Given the description of an element on the screen output the (x, y) to click on. 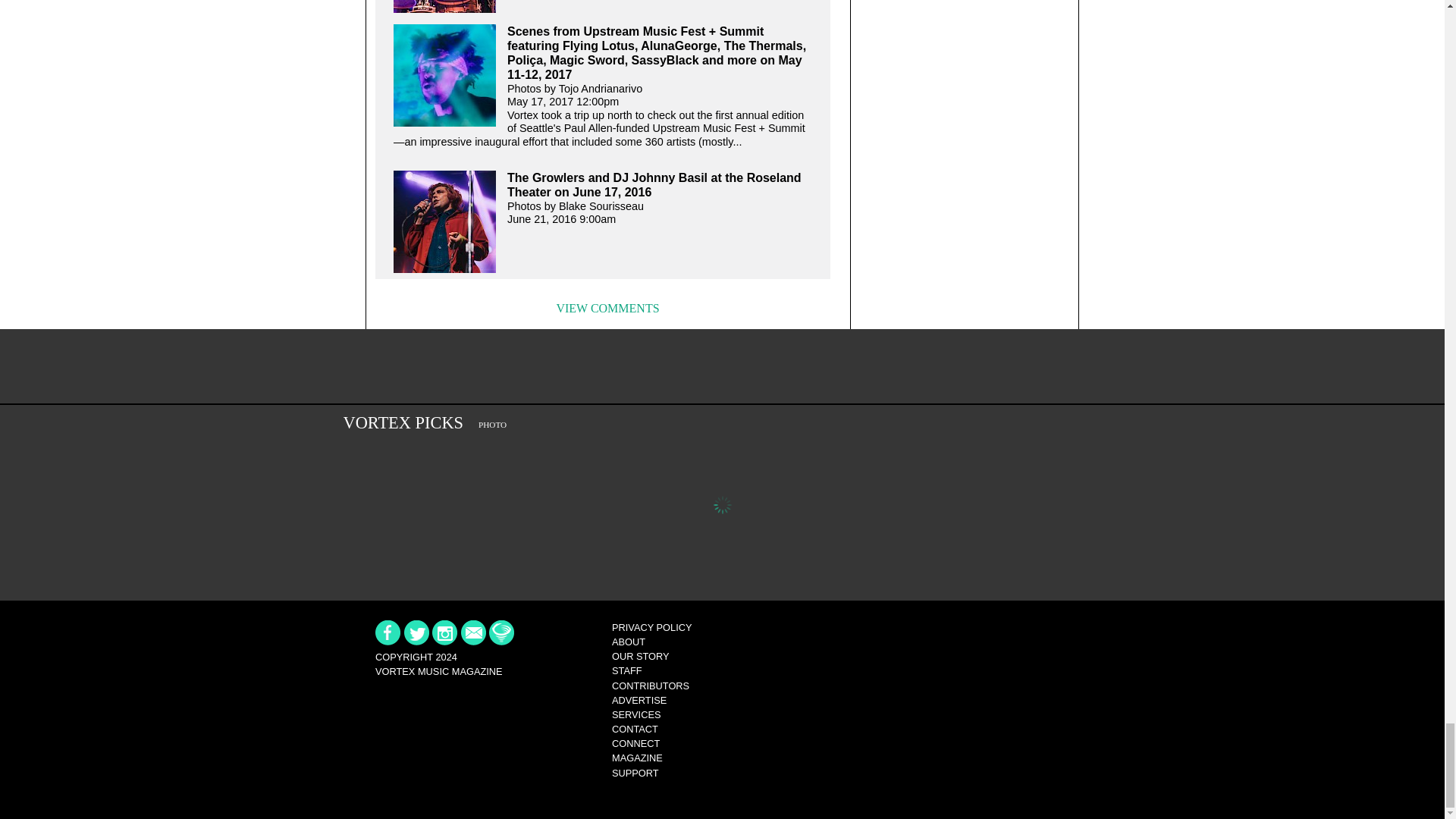
3rd party ad content (721, 366)
